Given the description of an element on the screen output the (x, y) to click on. 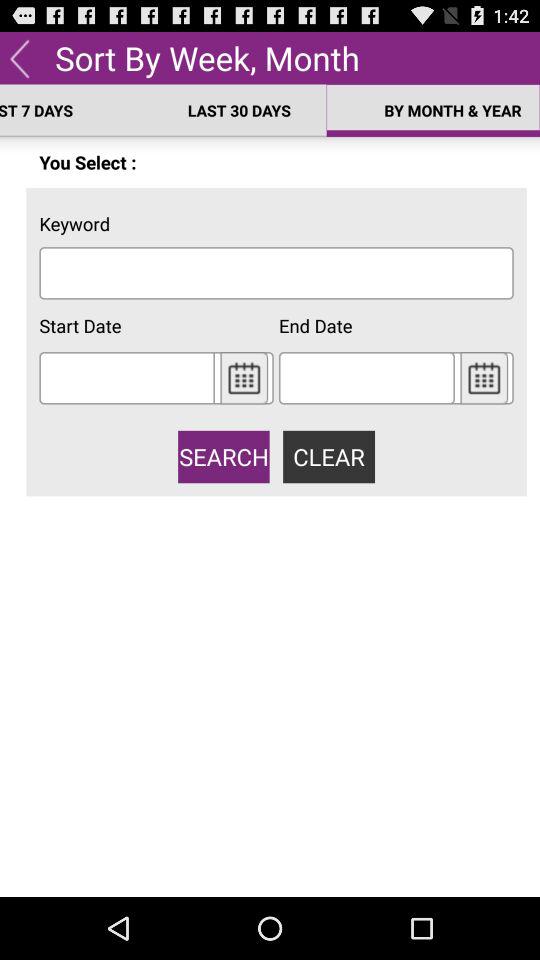
select the icon next to the search button (328, 456)
